Given the description of an element on the screen output the (x, y) to click on. 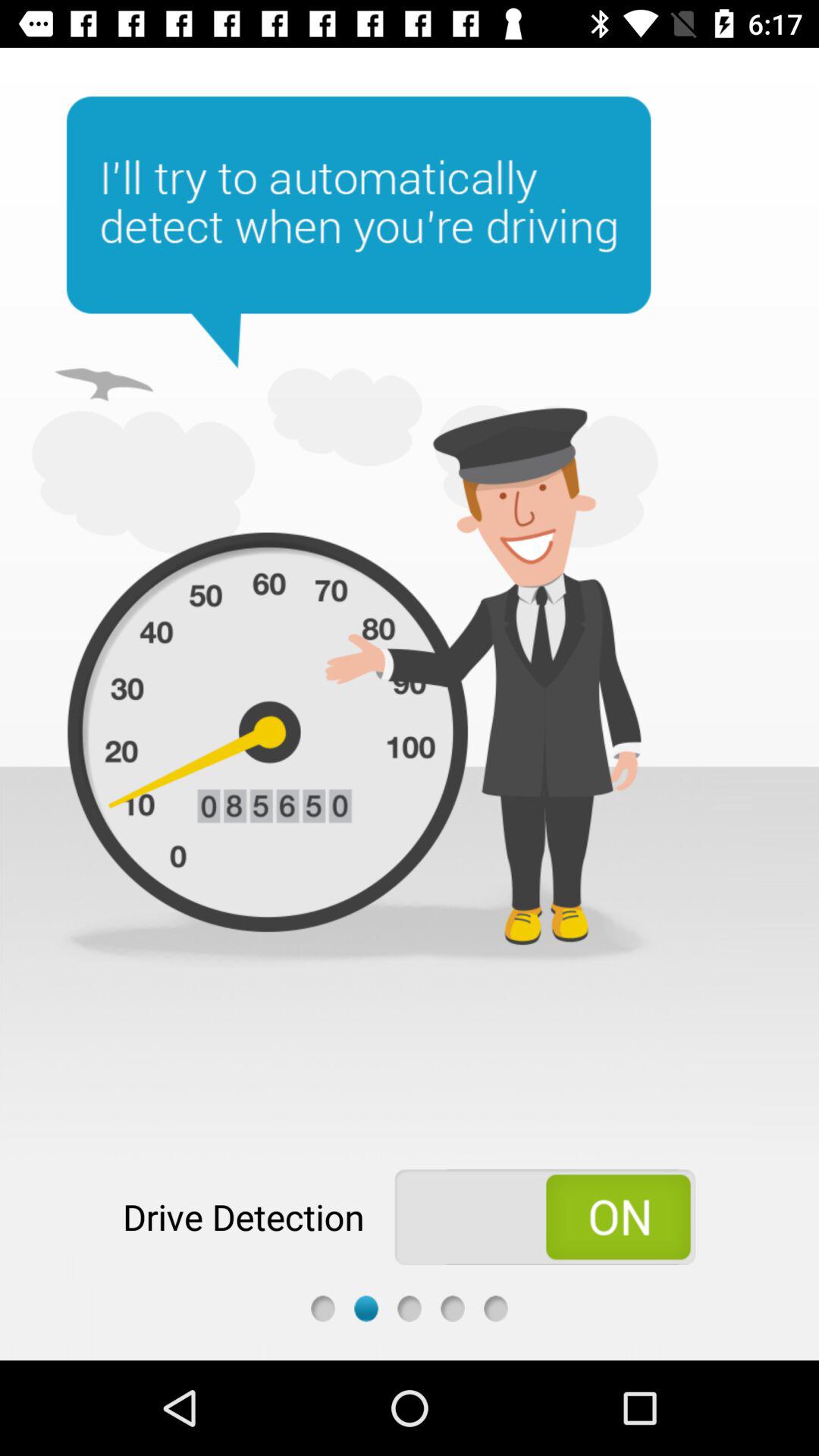
go to fifth step (495, 1308)
